Given the description of an element on the screen output the (x, y) to click on. 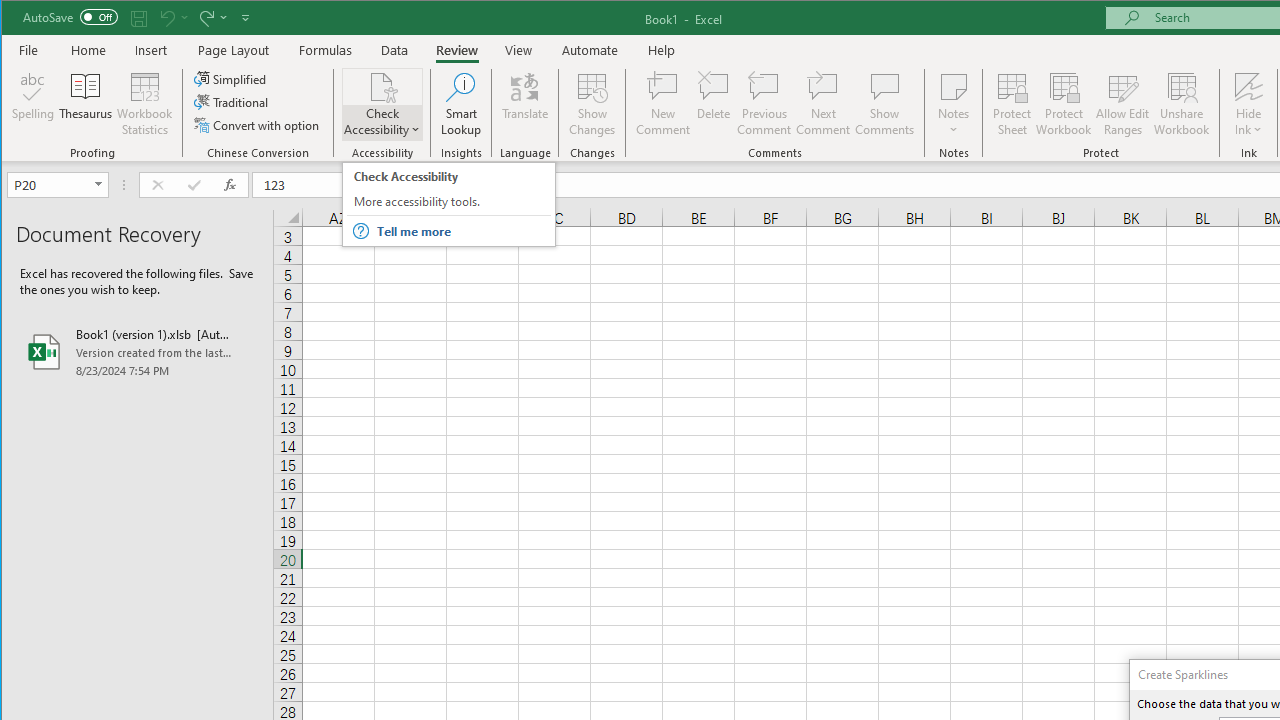
Next Comment (822, 104)
Translate (525, 104)
Thesaurus... (86, 104)
Simplified (231, 78)
Protect Workbook... (1064, 104)
Traditional (232, 101)
